Given the description of an element on the screen output the (x, y) to click on. 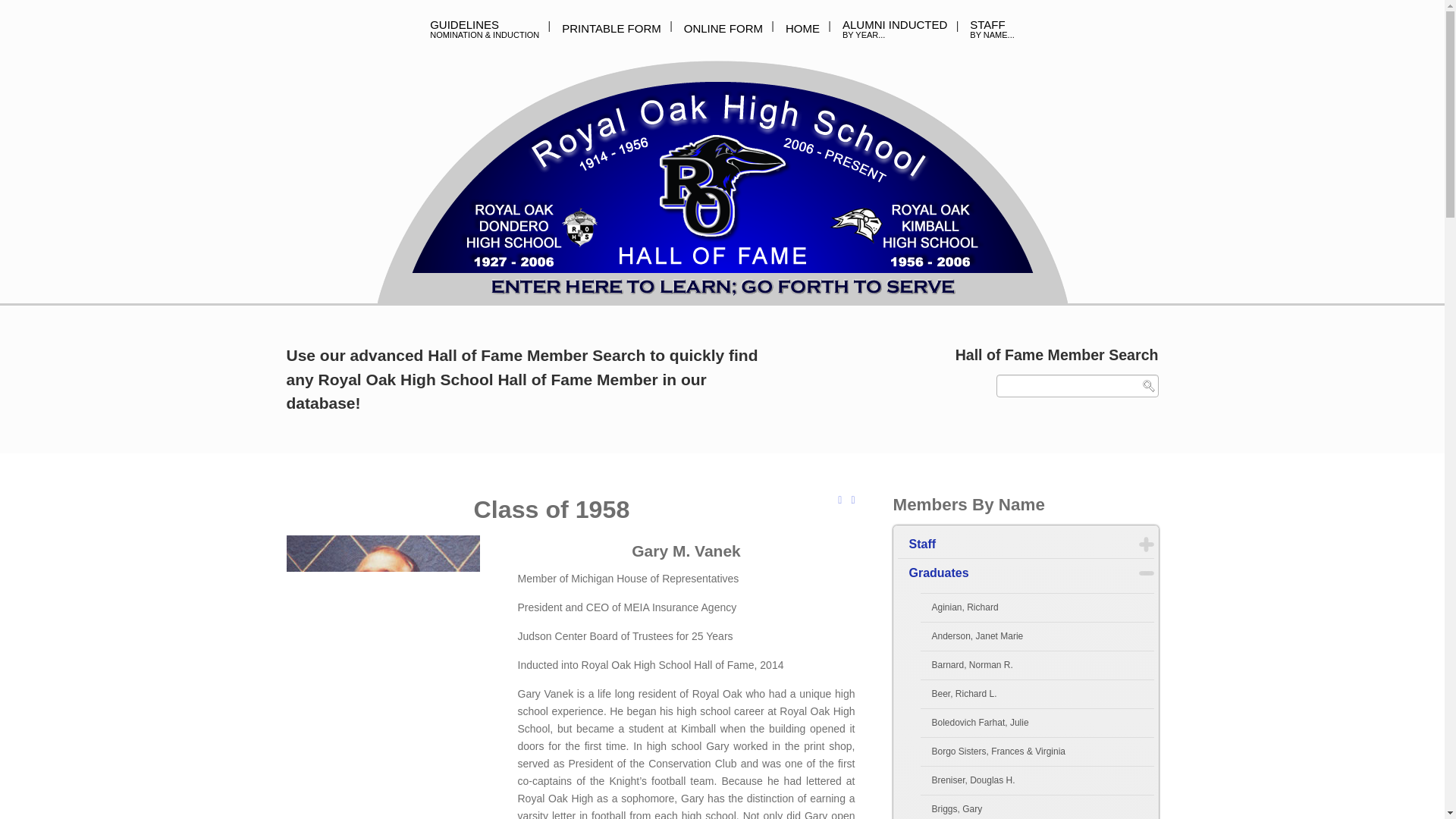
ONLINE FORM (723, 28)
PRINTABLE FORM (895, 28)
